Given the description of an element on the screen output the (x, y) to click on. 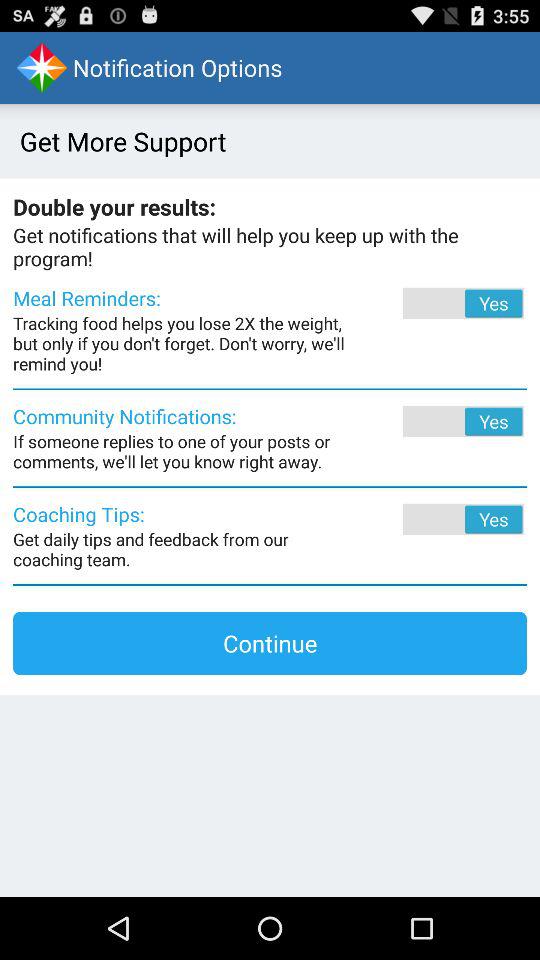
toggle yes and no (436, 519)
